Given the description of an element on the screen output the (x, y) to click on. 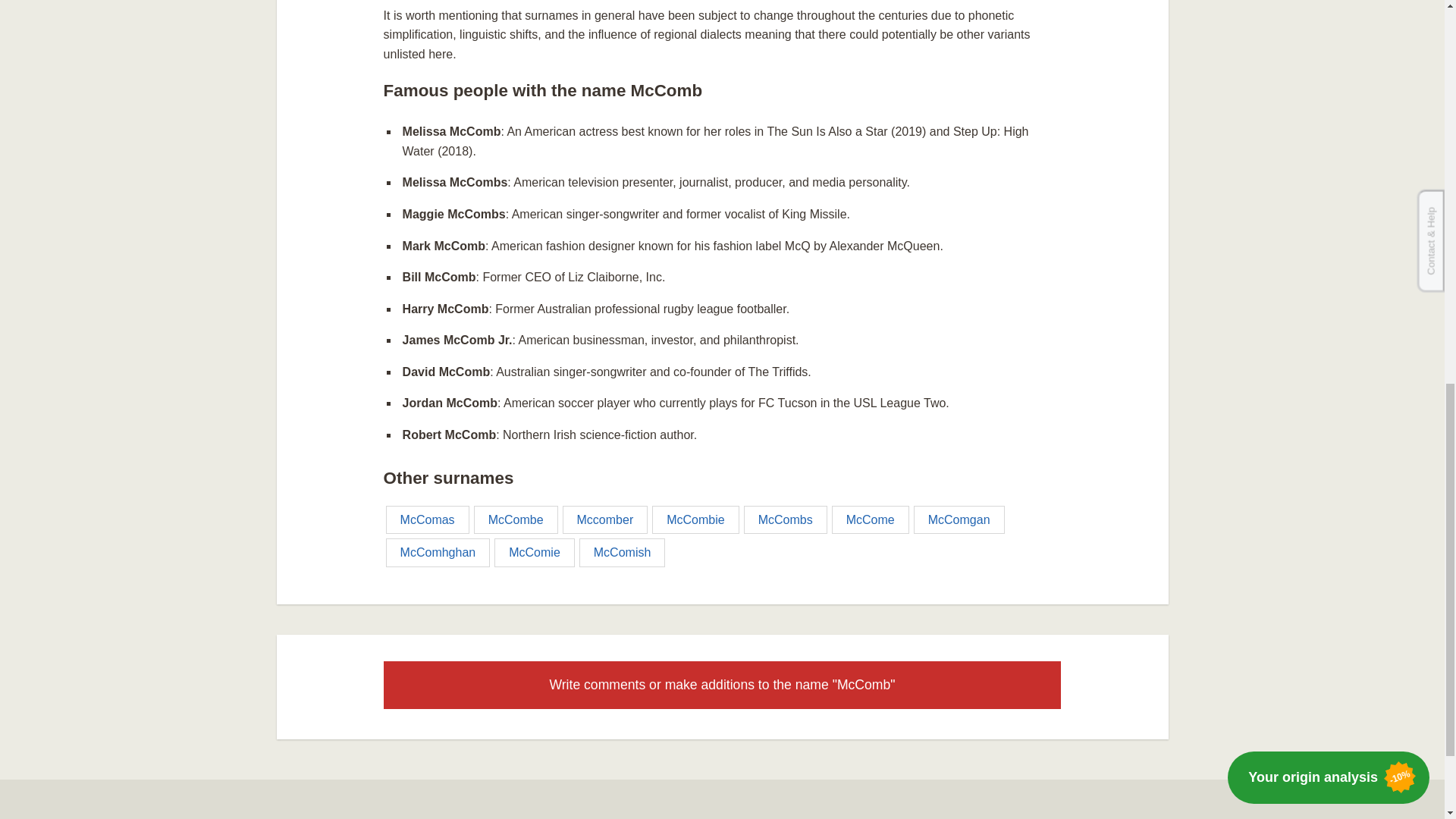
McComhghan (437, 552)
McComas (426, 519)
Write comments or make additions to the name "McComb" (722, 684)
Origin and meaning surname Mccomber (604, 519)
McCombs (785, 519)
Origin and meaning surname McCombs (785, 519)
Mccomber (604, 519)
McCombie (695, 519)
McComgan (959, 519)
Origin and meaning surname McComish (622, 552)
